Given the description of an element on the screen output the (x, y) to click on. 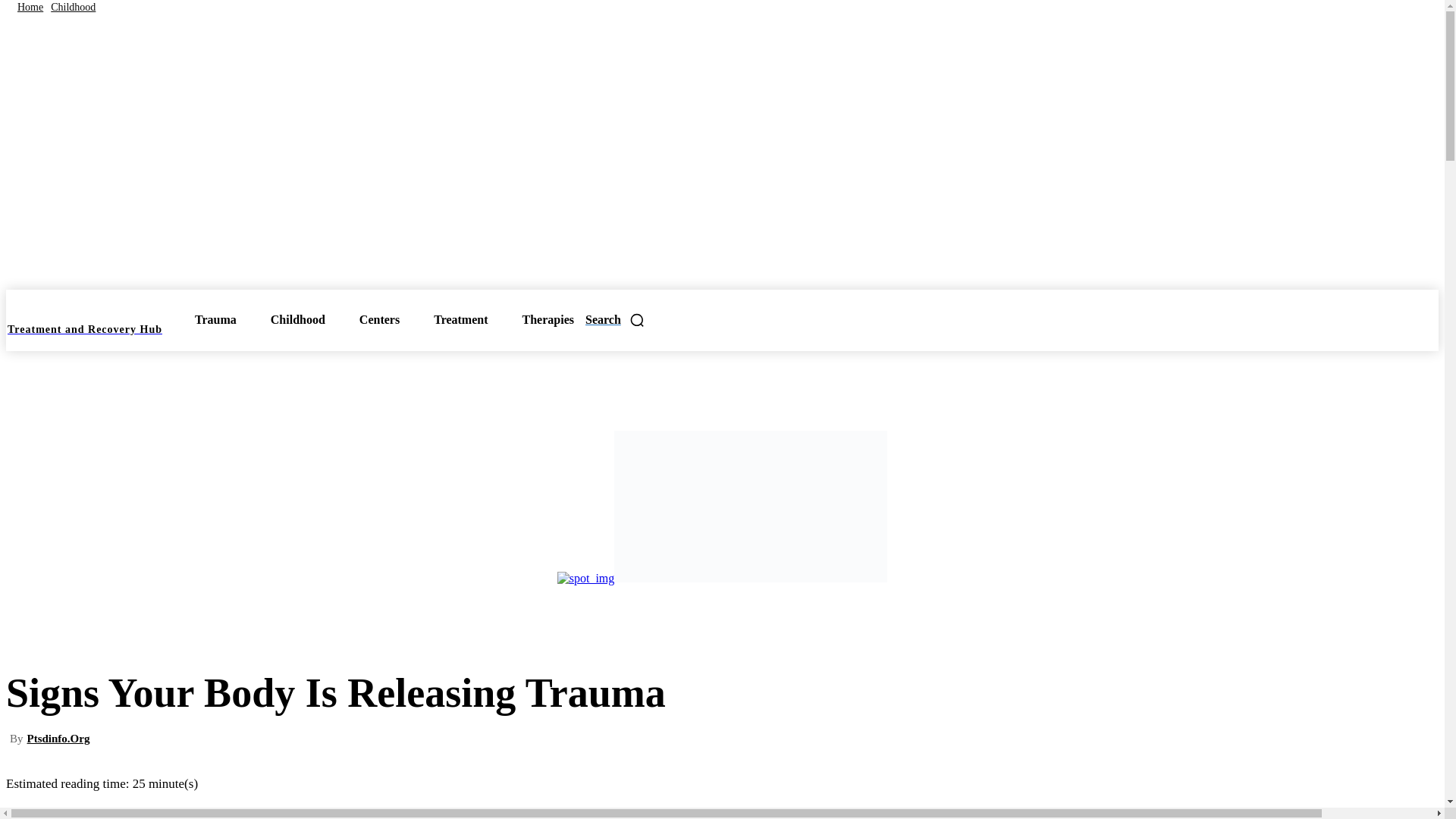
Search (615, 319)
Trauma (218, 320)
Childhood (301, 320)
